Given the description of an element on the screen output the (x, y) to click on. 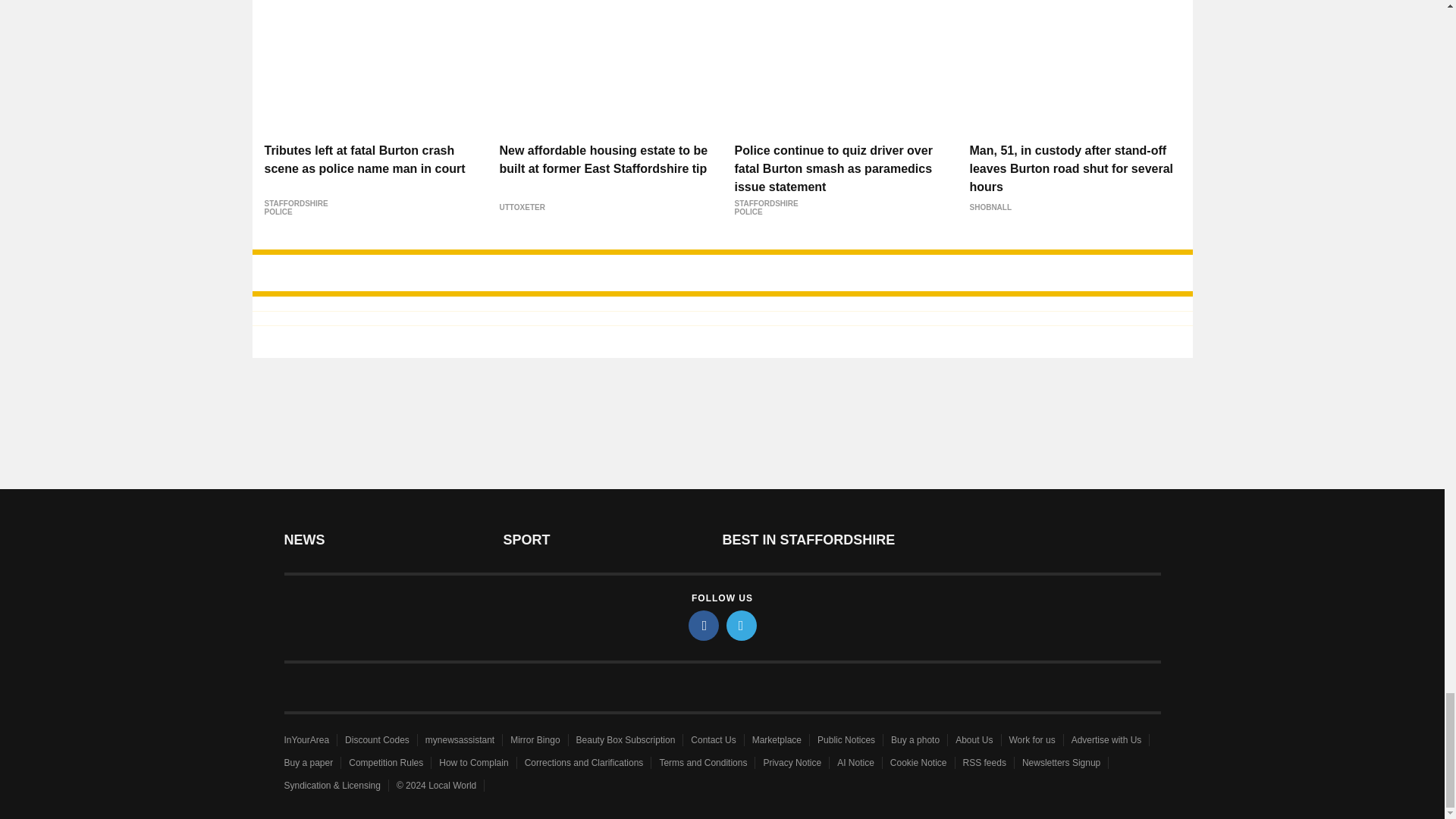
facebook (703, 625)
twitter (741, 625)
